Given the description of an element on the screen output the (x, y) to click on. 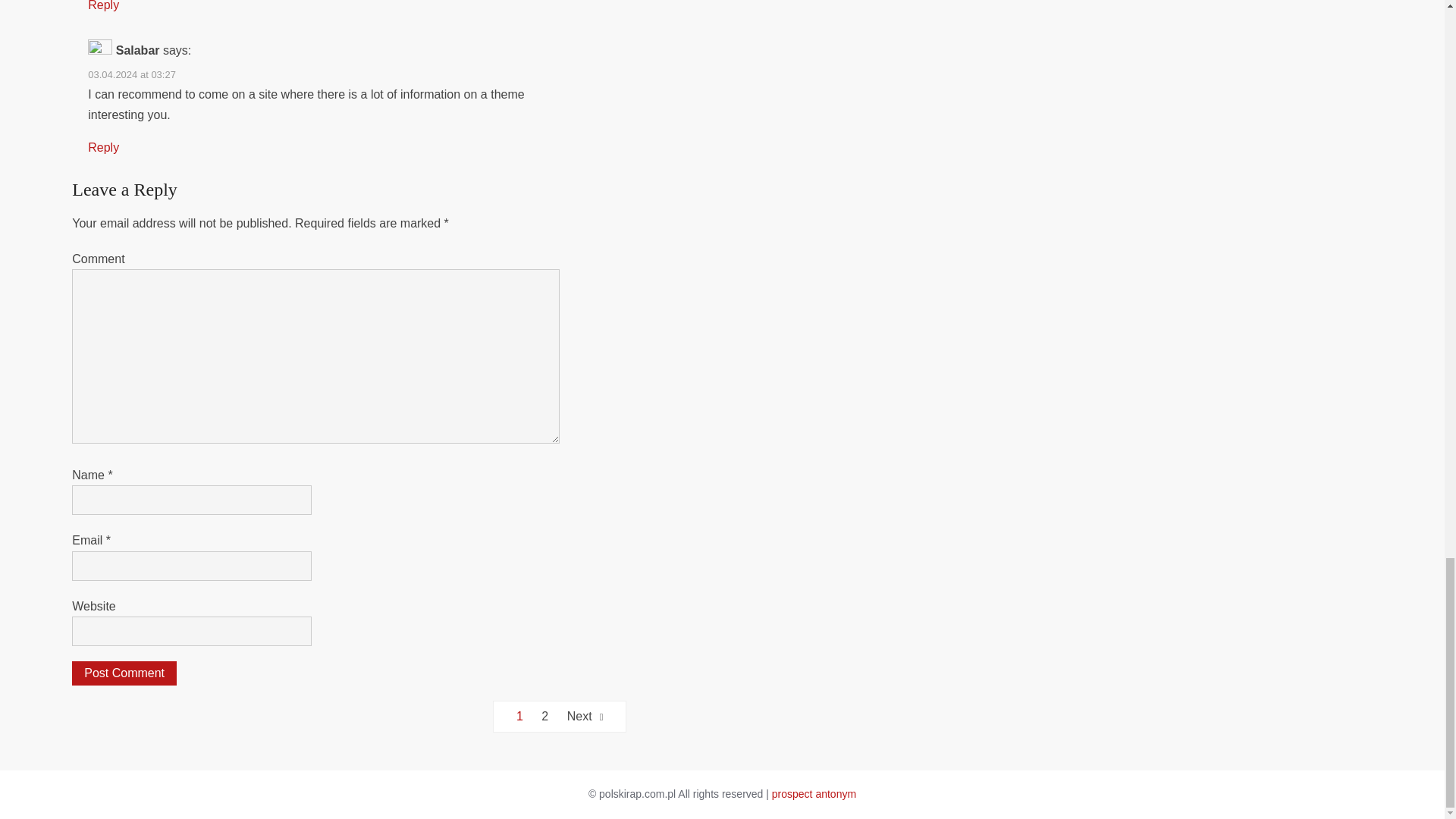
03.04.2024 at 03:27 (131, 74)
Post Comment (123, 672)
Reply (103, 5)
Post Comment (123, 672)
Reply (103, 146)
Next (585, 716)
